Given the description of an element on the screen output the (x, y) to click on. 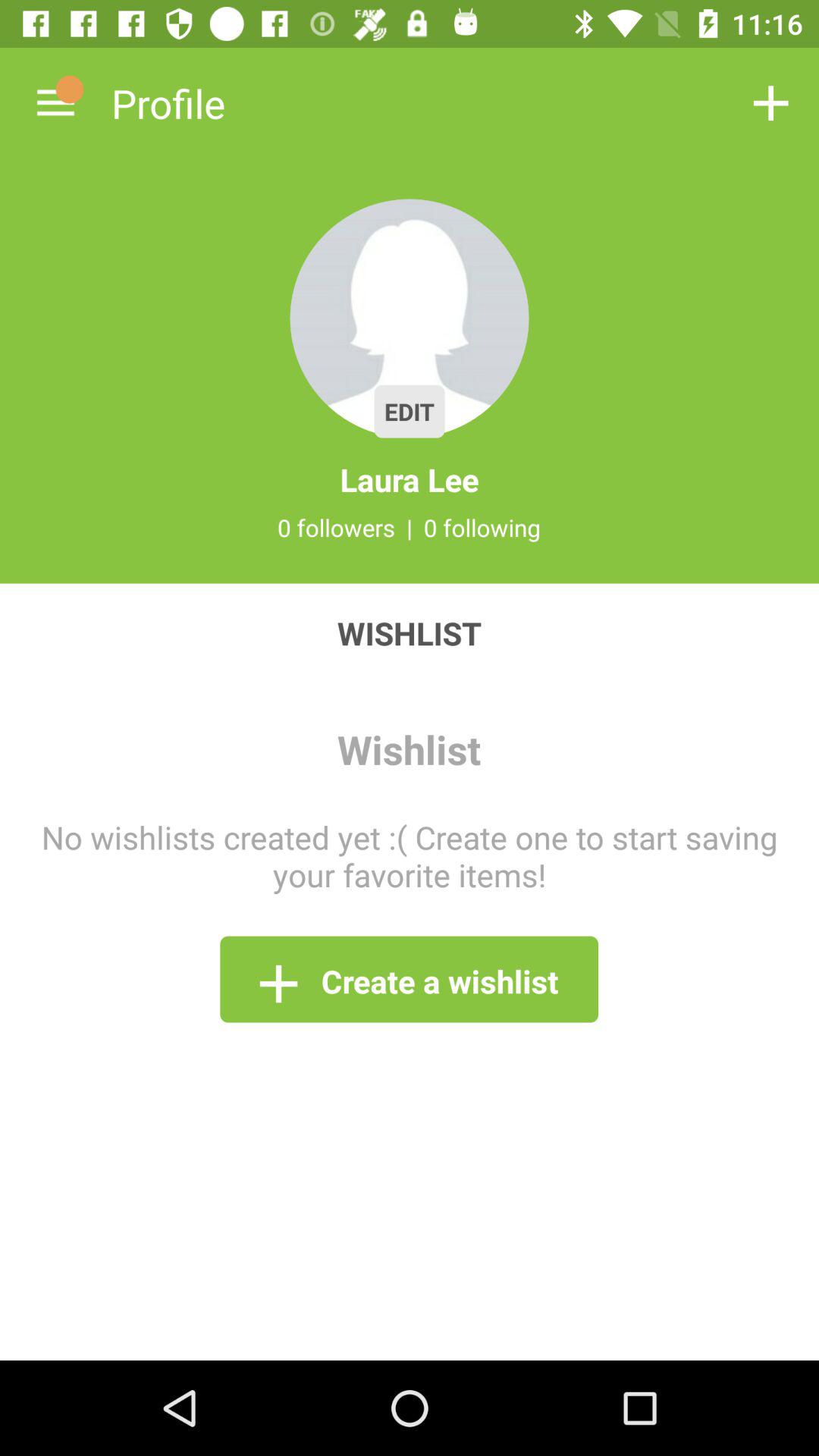
click item next to the   |   icon (481, 527)
